Given the description of an element on the screen output the (x, y) to click on. 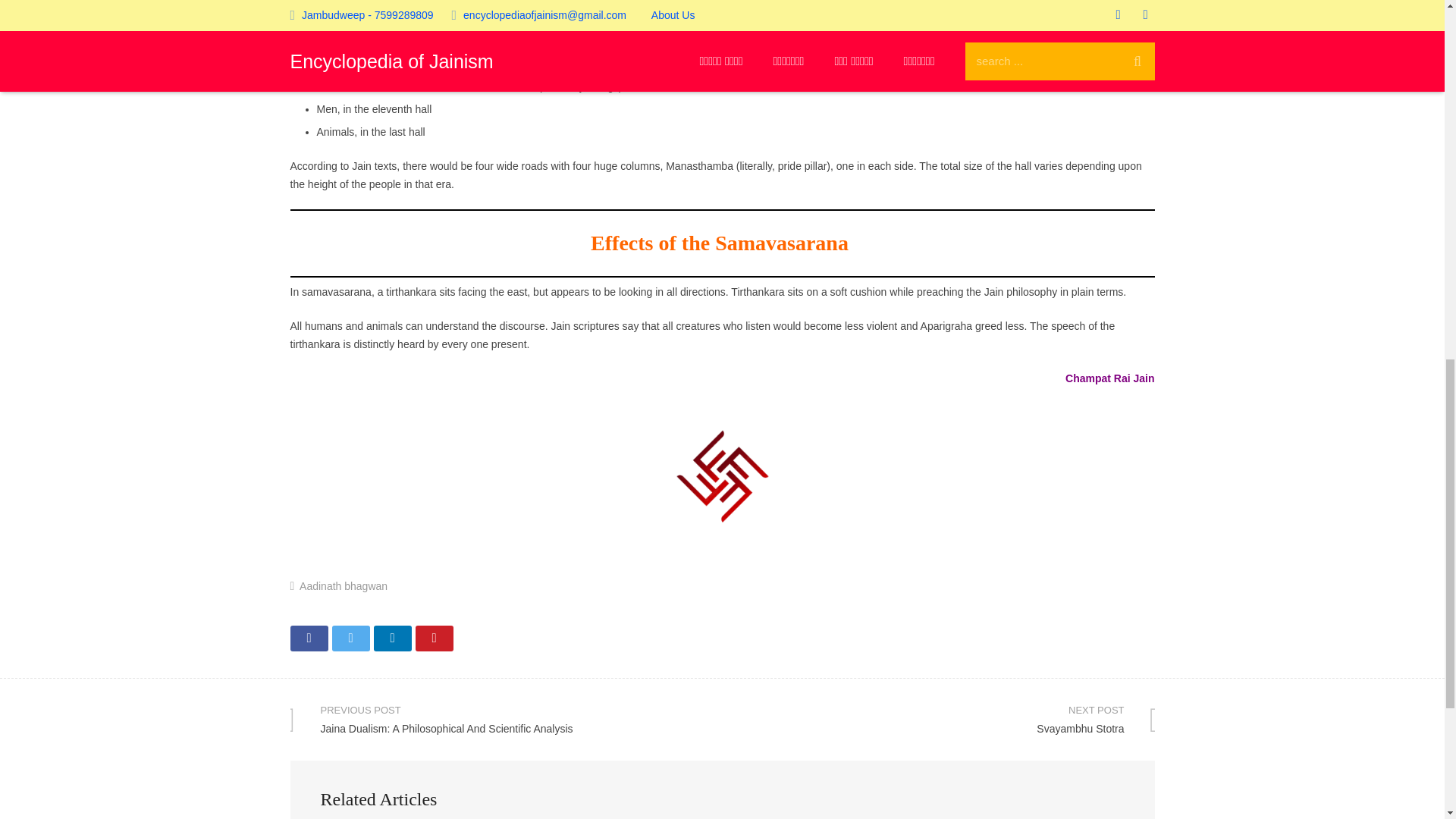
Share this (308, 638)
Tweet this (350, 638)
Share this (938, 719)
Back to top (391, 638)
Pin this (1411, 21)
Aadinath bhagwan (433, 638)
